Given the description of an element on the screen output the (x, y) to click on. 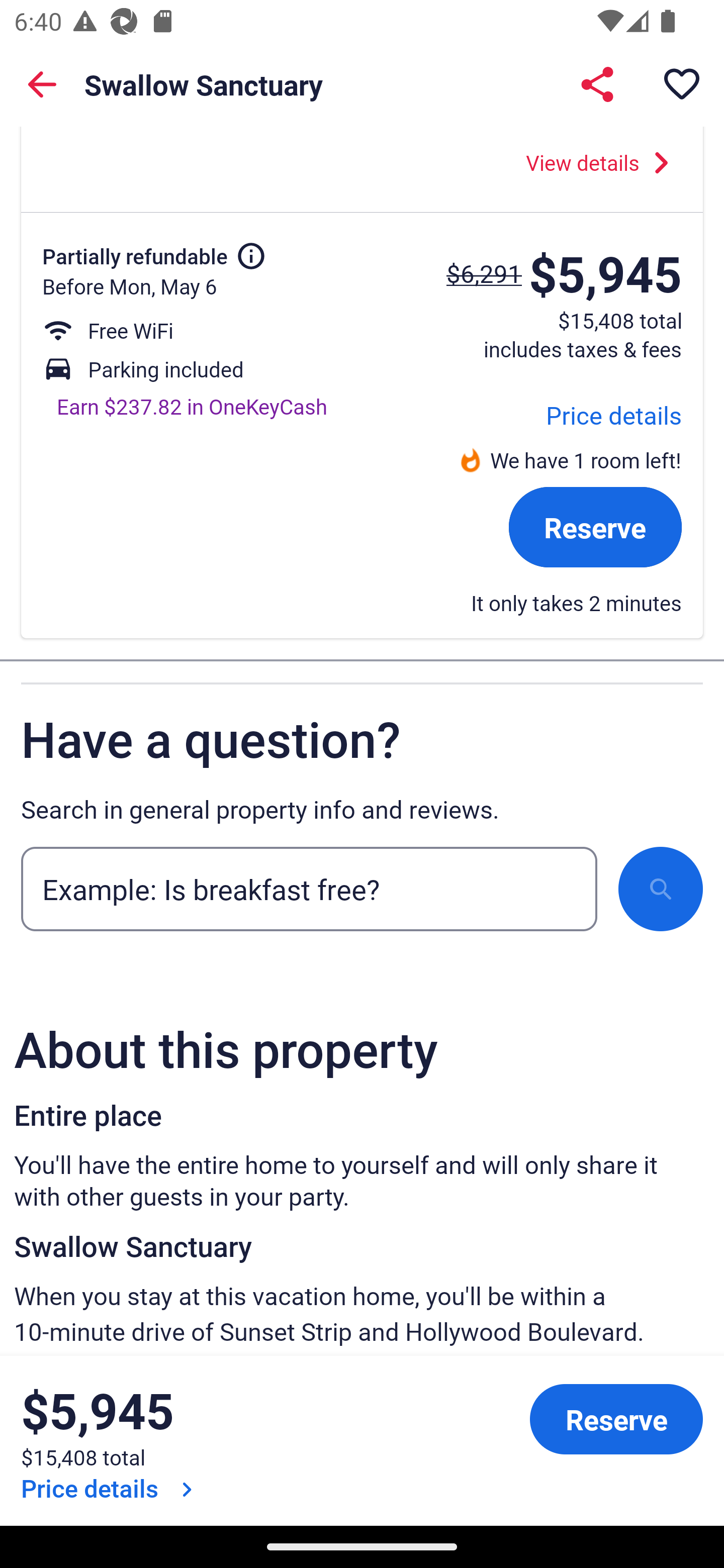
Back (42, 84)
Save property to a trip (681, 84)
Share Swallow Sanctuary (597, 84)
Partially refundable Button Partially refundable (154, 255)
$6,291 The price was $6,291 (486, 277)
Example: Is breakfast free? (308, 888)
